Given the description of an element on the screen output the (x, y) to click on. 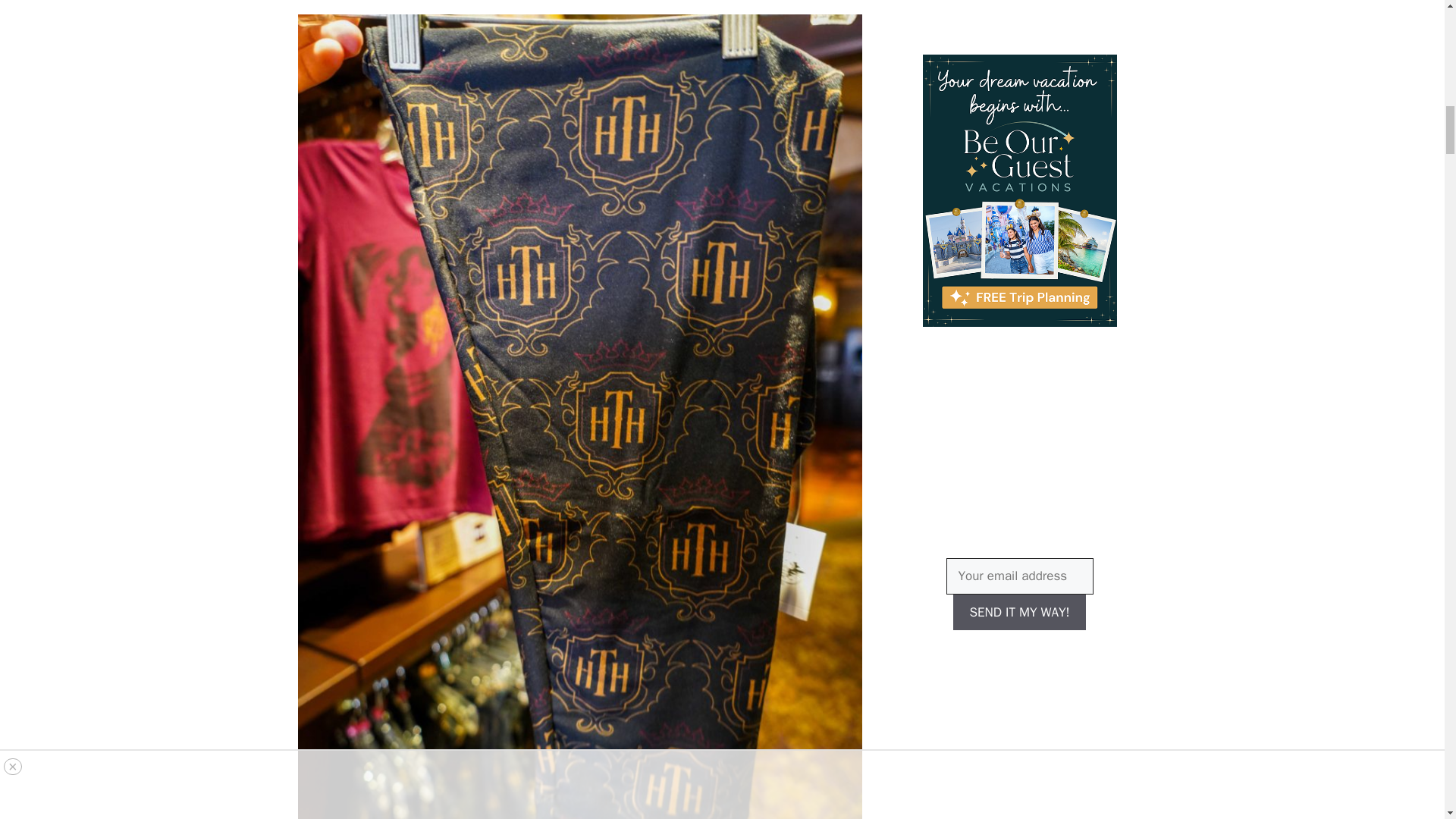
SEND IT MY WAY! (1018, 612)
